Given the description of an element on the screen output the (x, y) to click on. 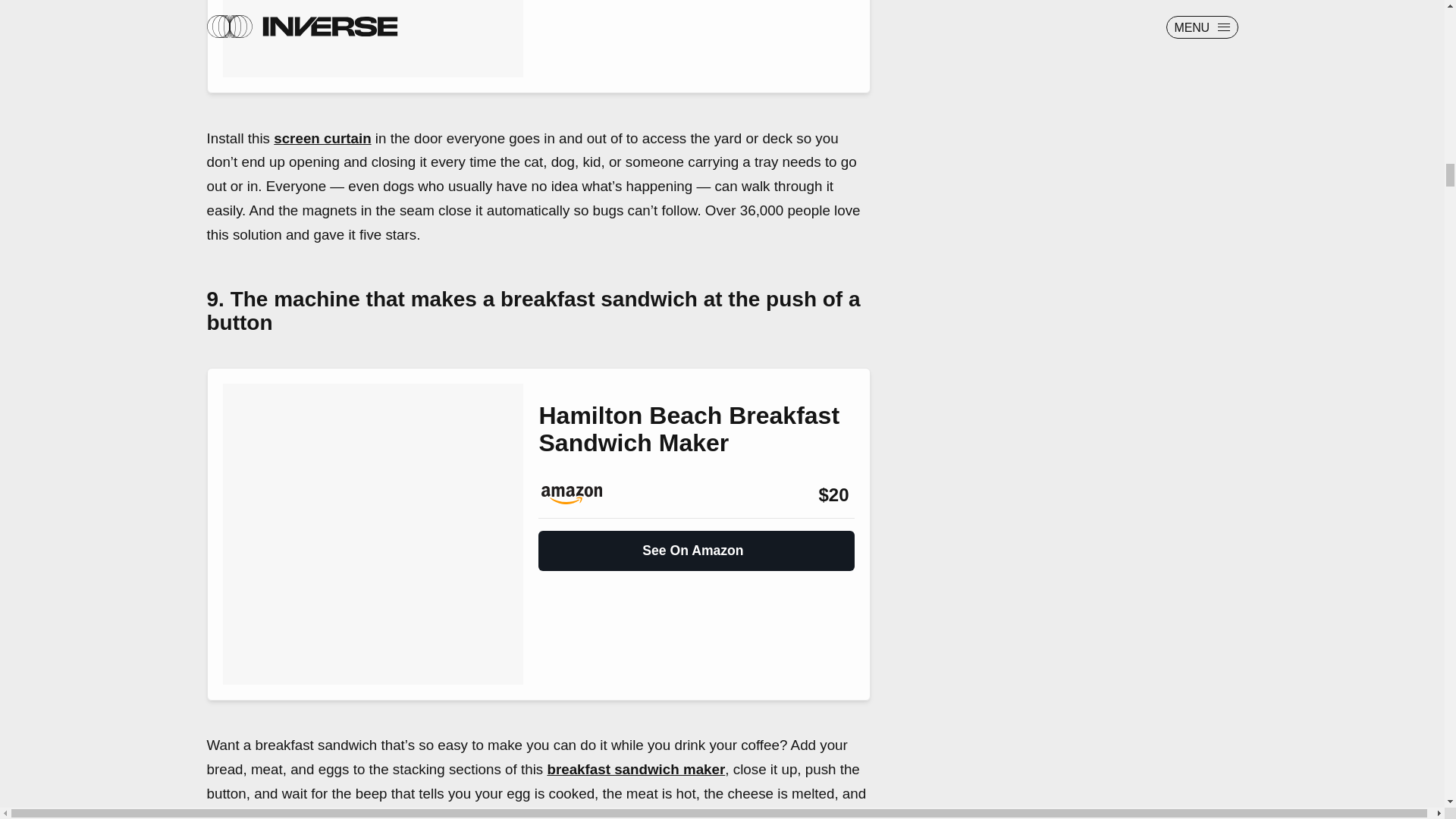
breakfast sandwich maker (636, 769)
screen curtain (322, 138)
See On Amazon (696, 543)
Amazon (579, 495)
